Given the description of an element on the screen output the (x, y) to click on. 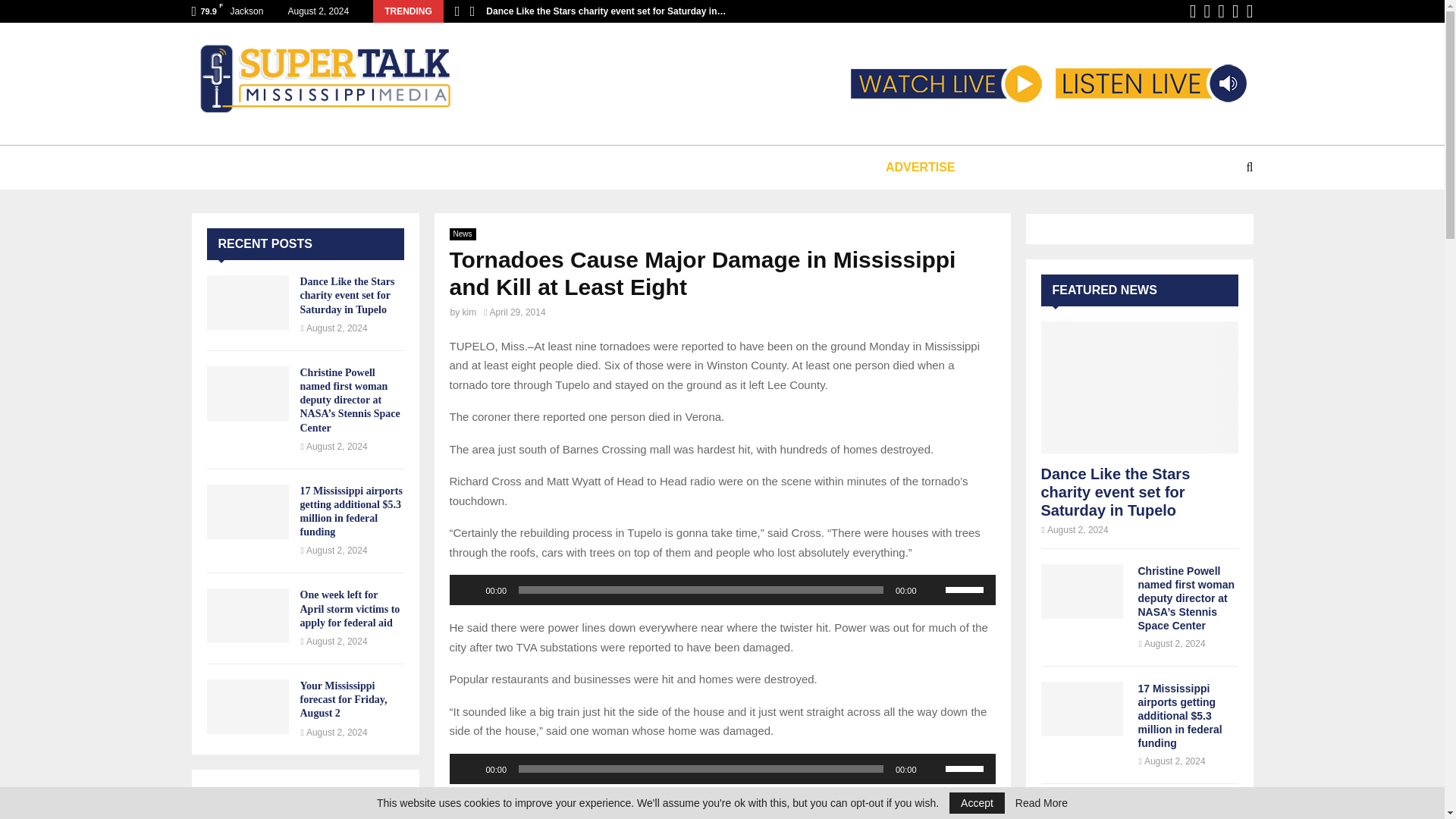
Mute (932, 589)
Play (468, 589)
STATIONS (345, 167)
Mute (932, 768)
Play (468, 768)
TUNE IN (255, 167)
